Given the description of an element on the screen output the (x, y) to click on. 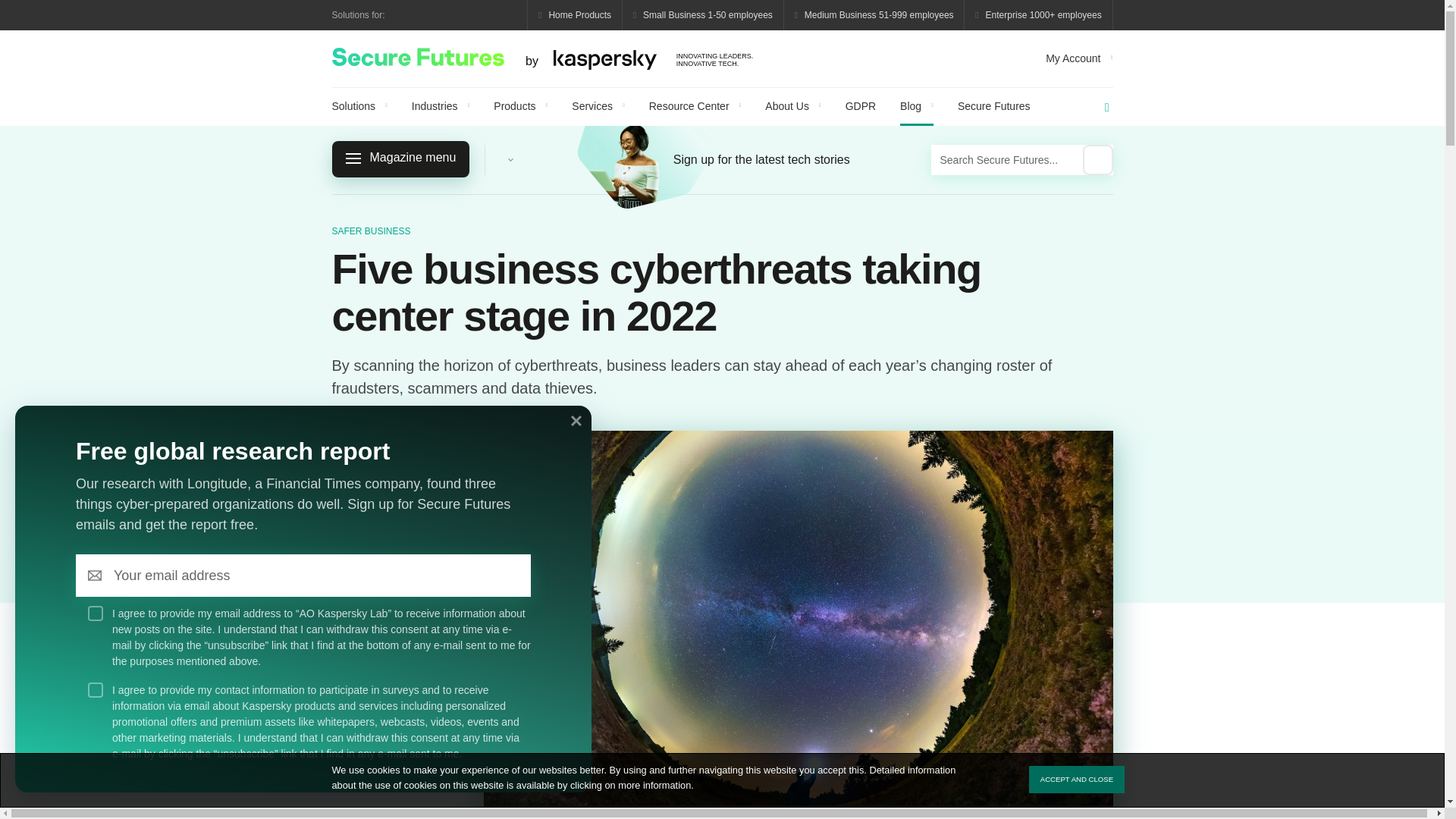
Sign me Up (509, 575)
Home Products (575, 15)
Share via Facebook (339, 702)
Medium Business 51-999 employees (874, 15)
Share via Twitter (370, 702)
My Account (1078, 58)
font-icons icon-small-business (703, 15)
Share via LinkedIn (542, 57)
Small Business 1-50 employees (399, 702)
Industries (703, 15)
Solutions (440, 106)
Share via Email (359, 106)
Products (429, 702)
